Given the description of an element on the screen output the (x, y) to click on. 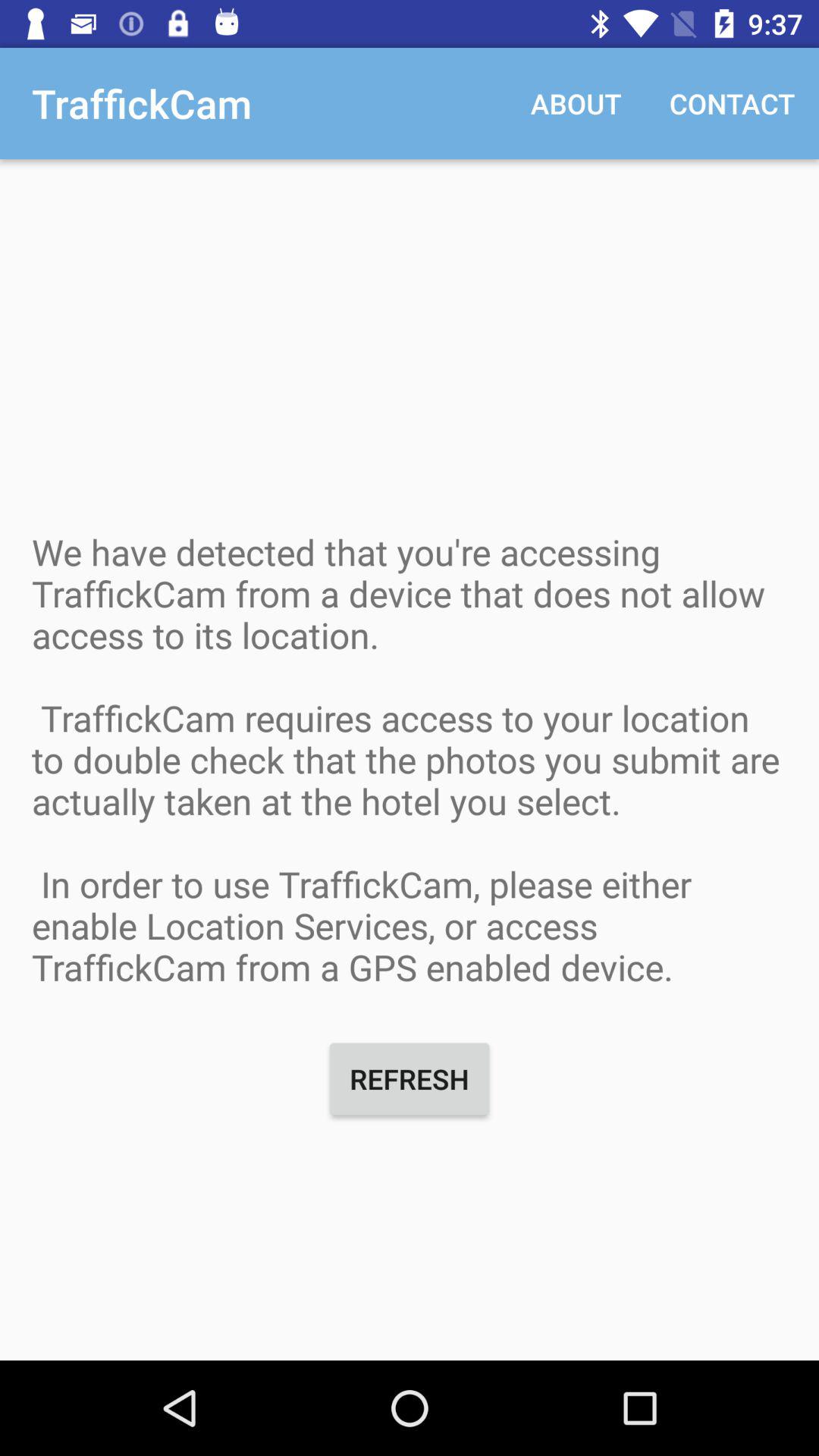
jump to about icon (575, 103)
